Given the description of an element on the screen output the (x, y) to click on. 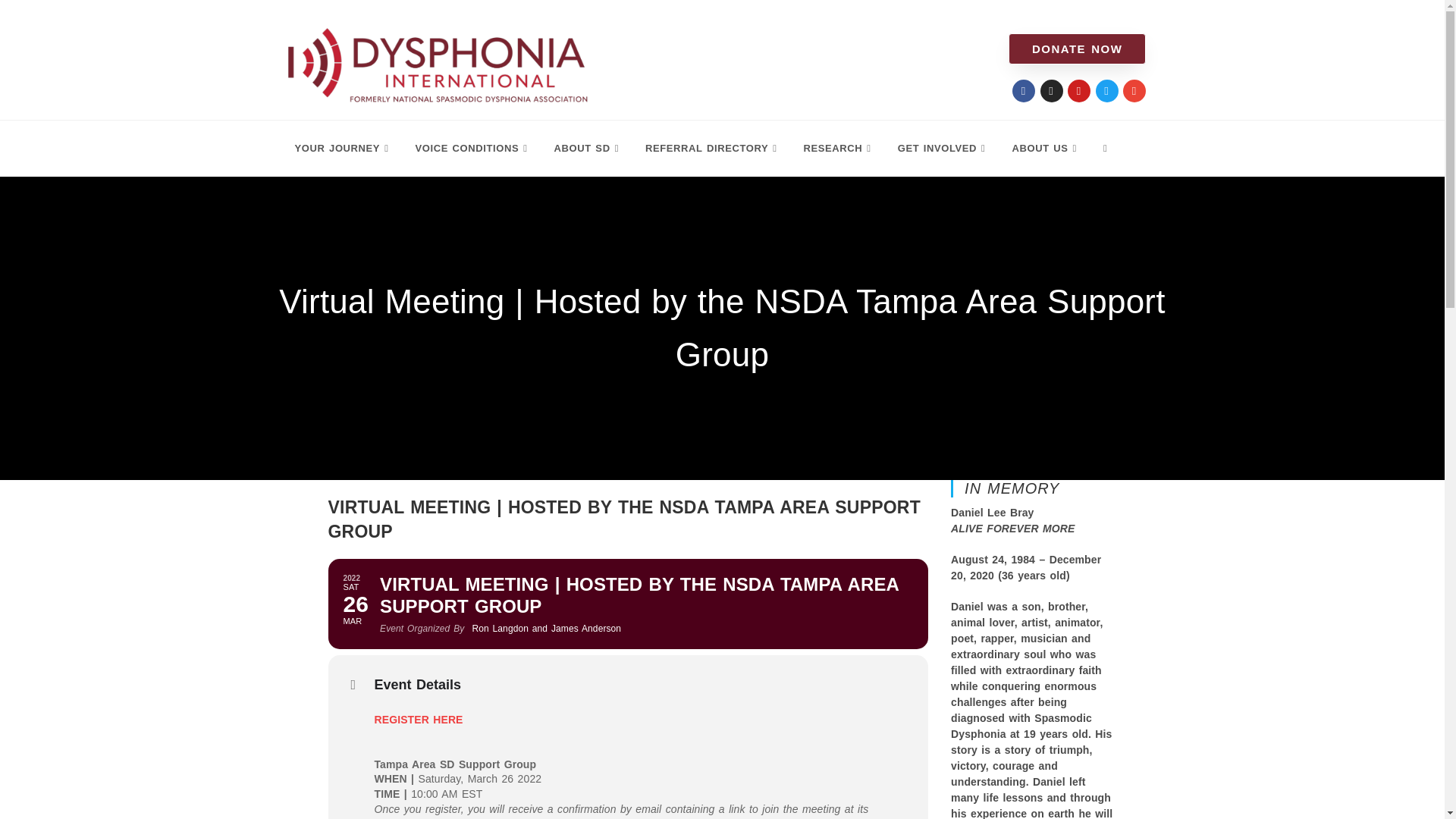
VOICE CONDITIONS (445, 13)
ABOUT SD (556, 13)
YOUR JOURNEY (318, 13)
